Given the description of an element on the screen output the (x, y) to click on. 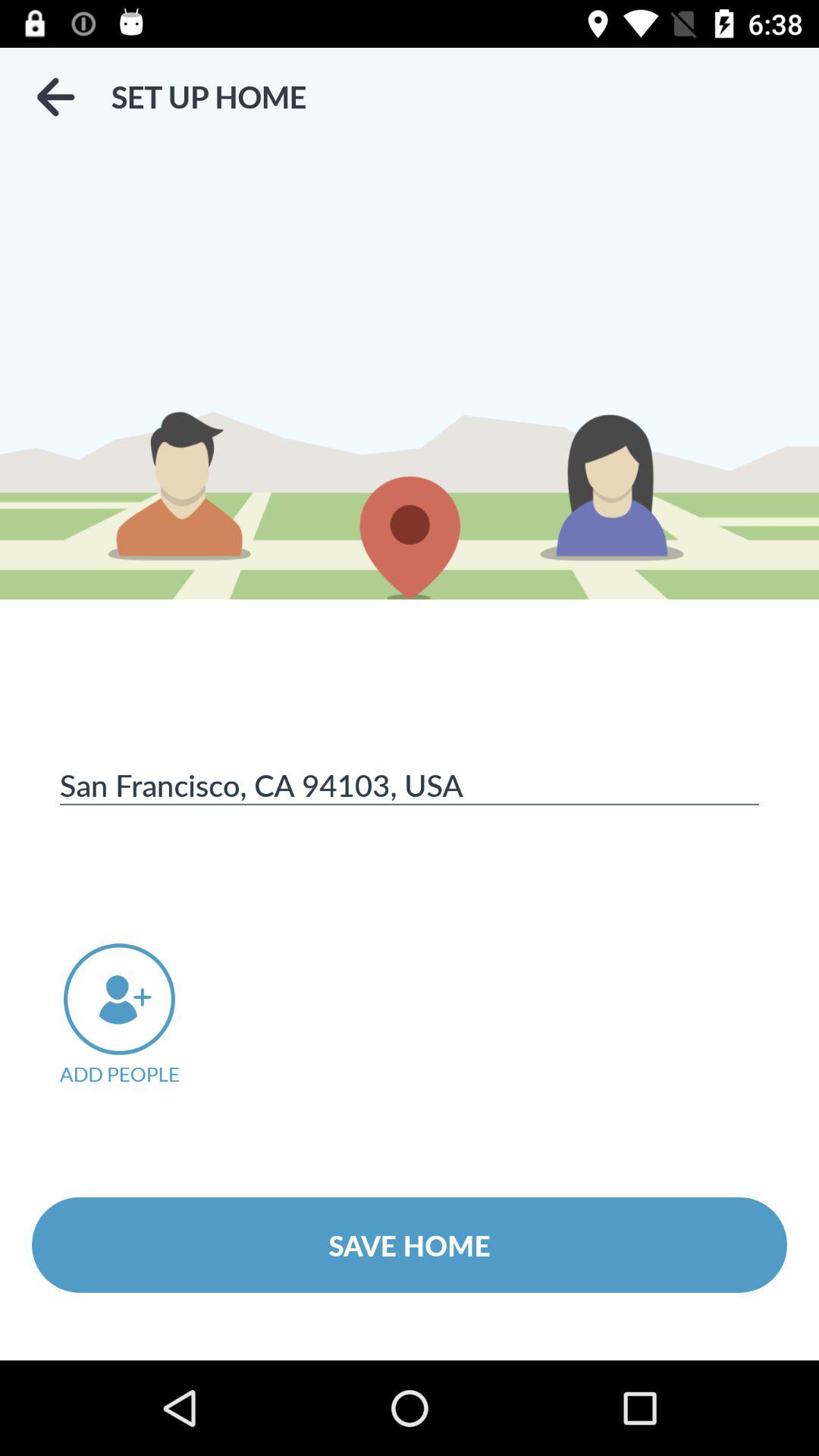
jump until add people (140, 1014)
